Given the description of an element on the screen output the (x, y) to click on. 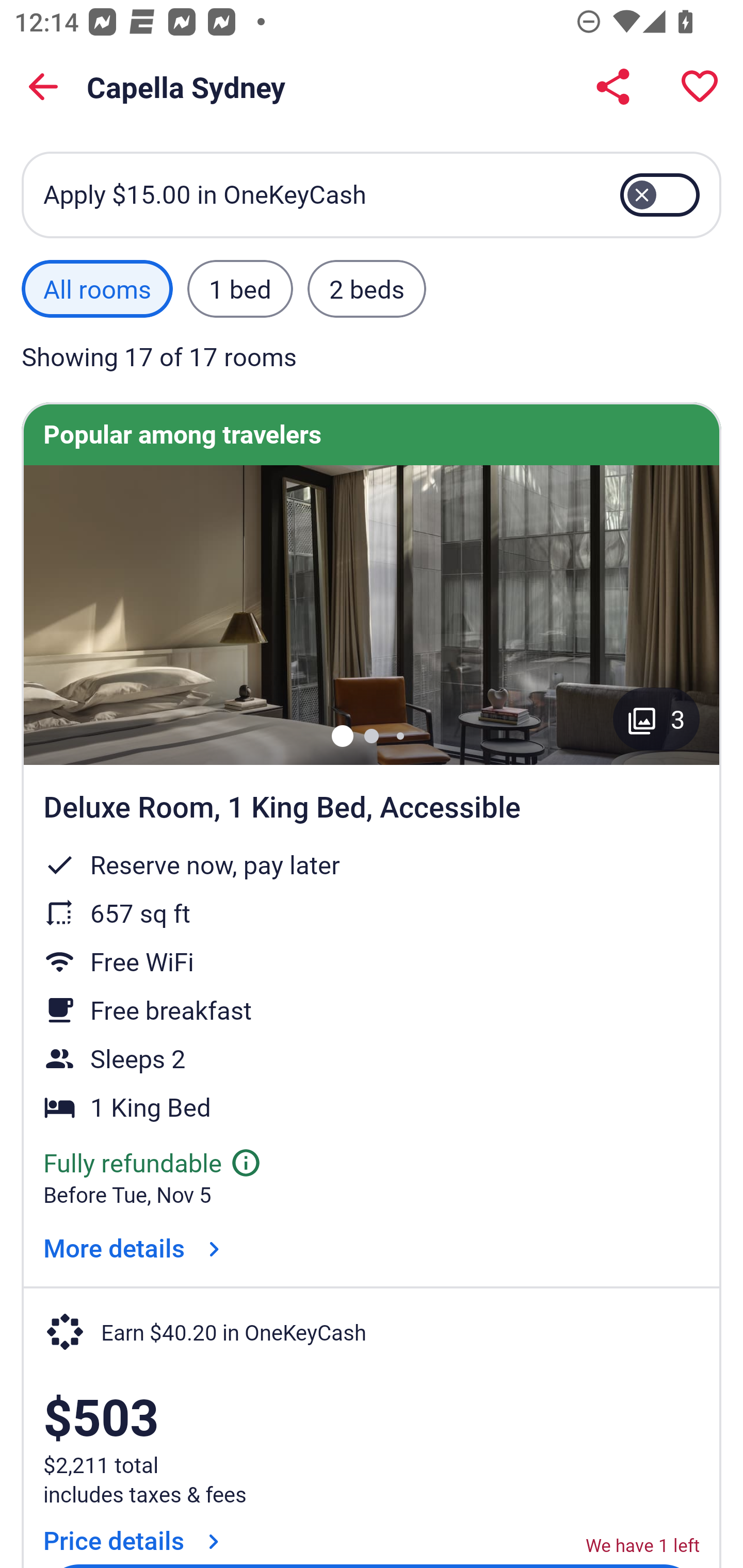
Back (43, 86)
Save property to a trip (699, 86)
Share Capella Sydney (612, 87)
All rooms (97, 289)
1 bed (239, 289)
2 beds (366, 289)
Gallery button with 3 images (655, 718)
Fully refundable (152, 1162)
